Given the description of an element on the screen output the (x, y) to click on. 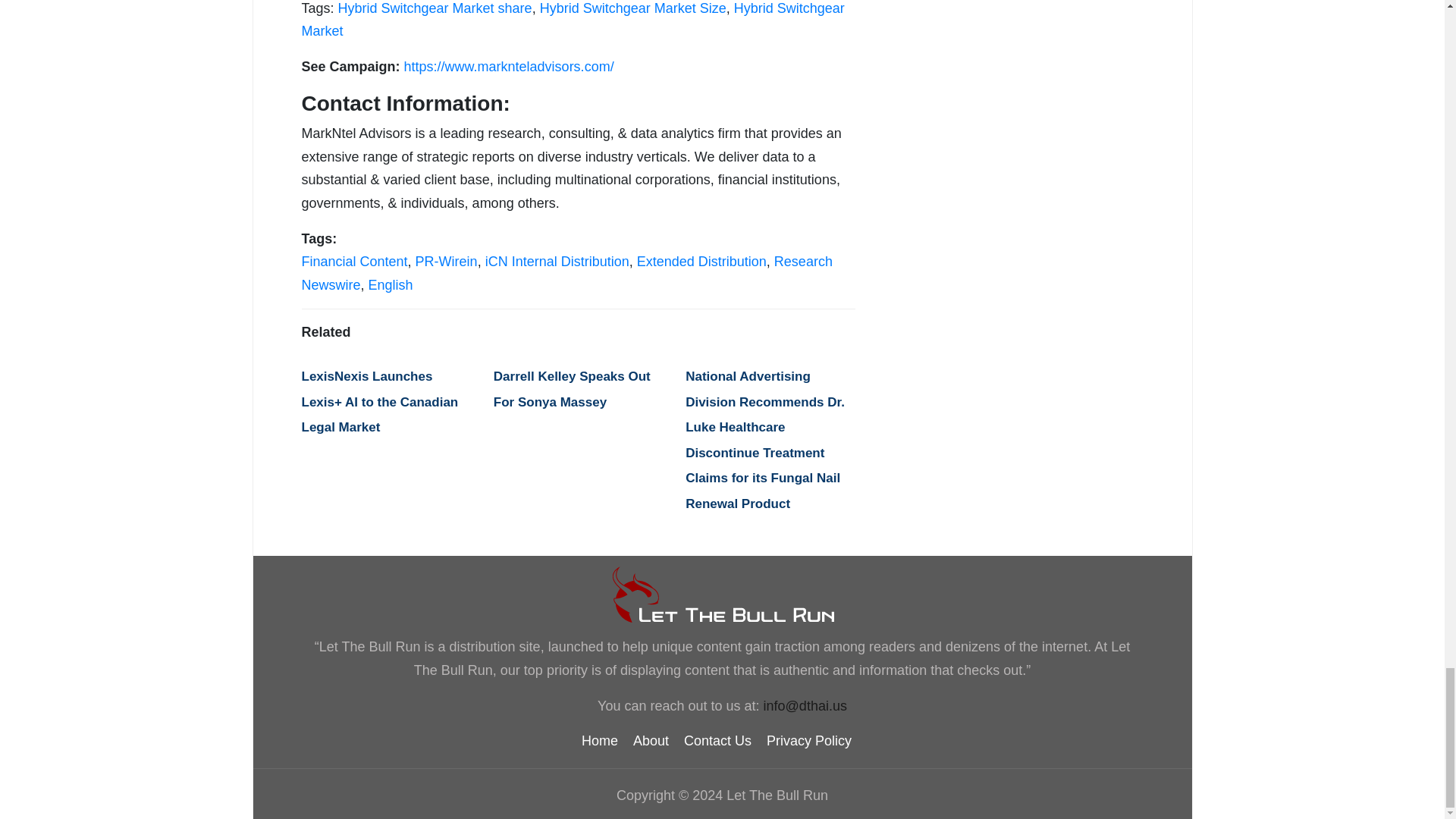
site title (721, 595)
